Given the description of an element on the screen output the (x, y) to click on. 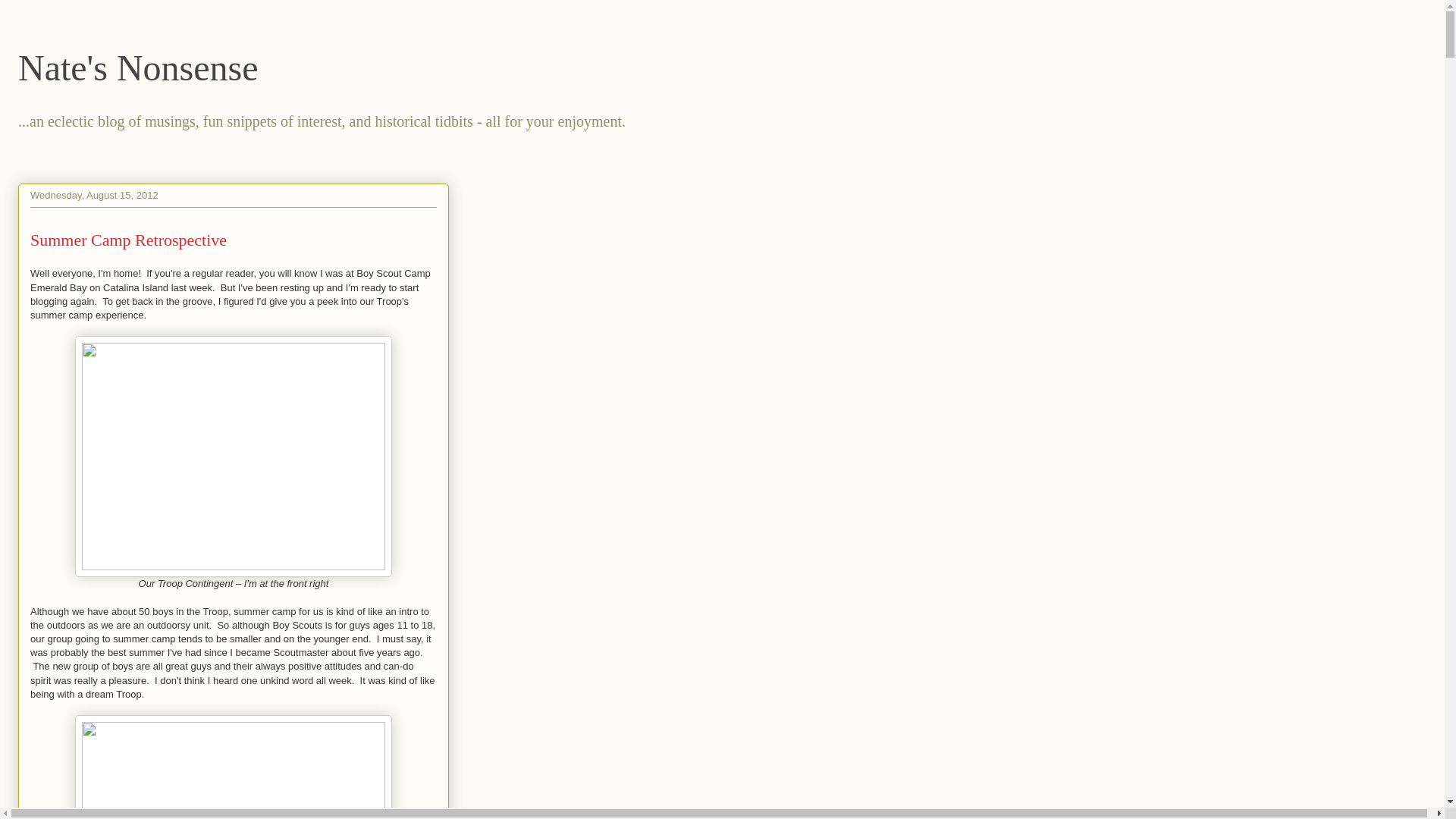
Nate's Nonsense (138, 67)
